Given the description of an element on the screen output the (x, y) to click on. 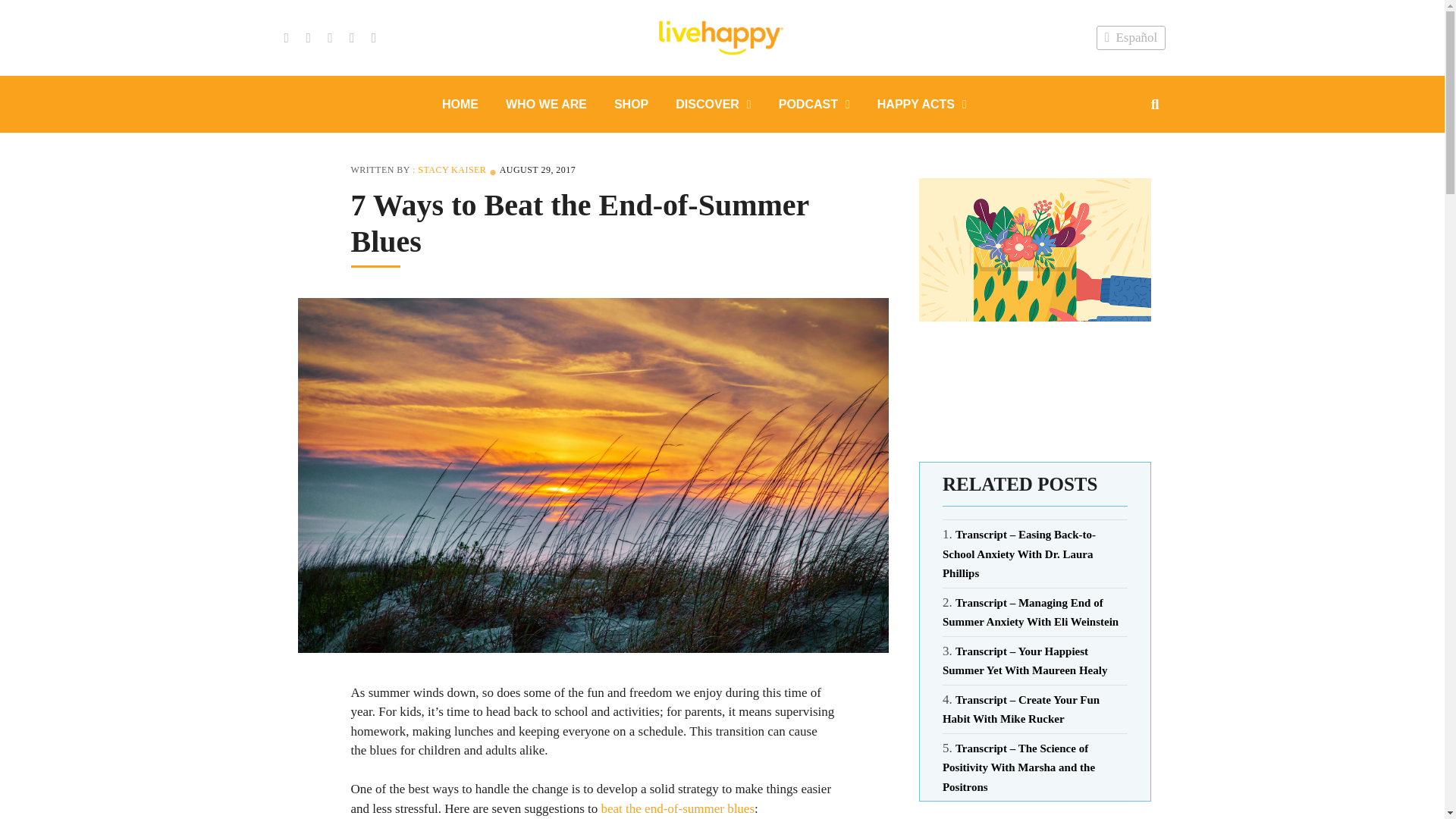
DISCOVER (713, 103)
PODCAST (814, 103)
HAPPY ACTS (921, 103)
SHOP (630, 103)
WHO WE ARE (545, 103)
HOME (460, 103)
